Given the description of an element on the screen output the (x, y) to click on. 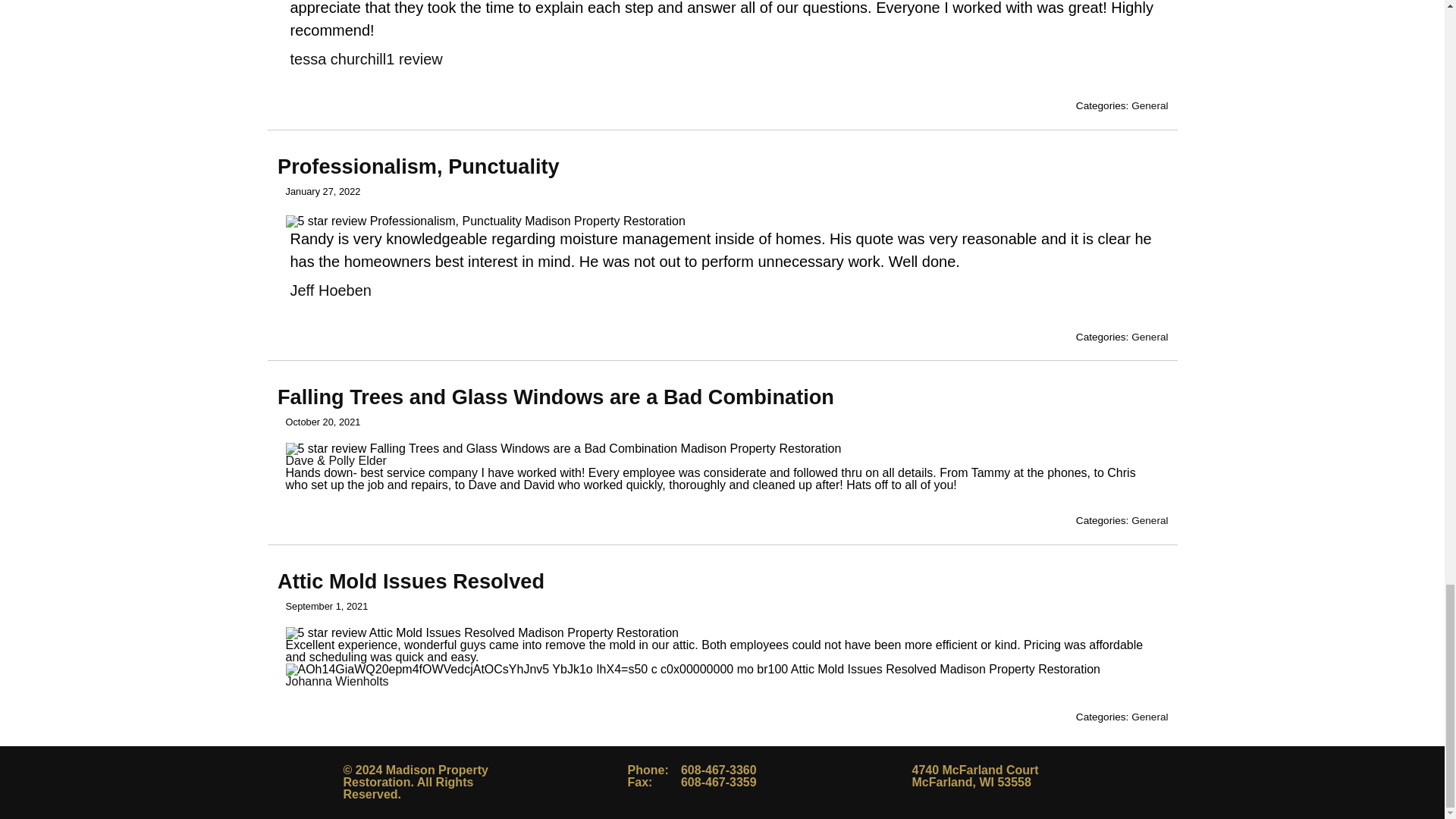
Professionalism, Punctuality (418, 166)
Falling Trees and Glass Windows are a Bad Combination (556, 396)
Professionalism, Punctuality 7 Madison Property Restoration (484, 221)
